Given the description of an element on the screen output the (x, y) to click on. 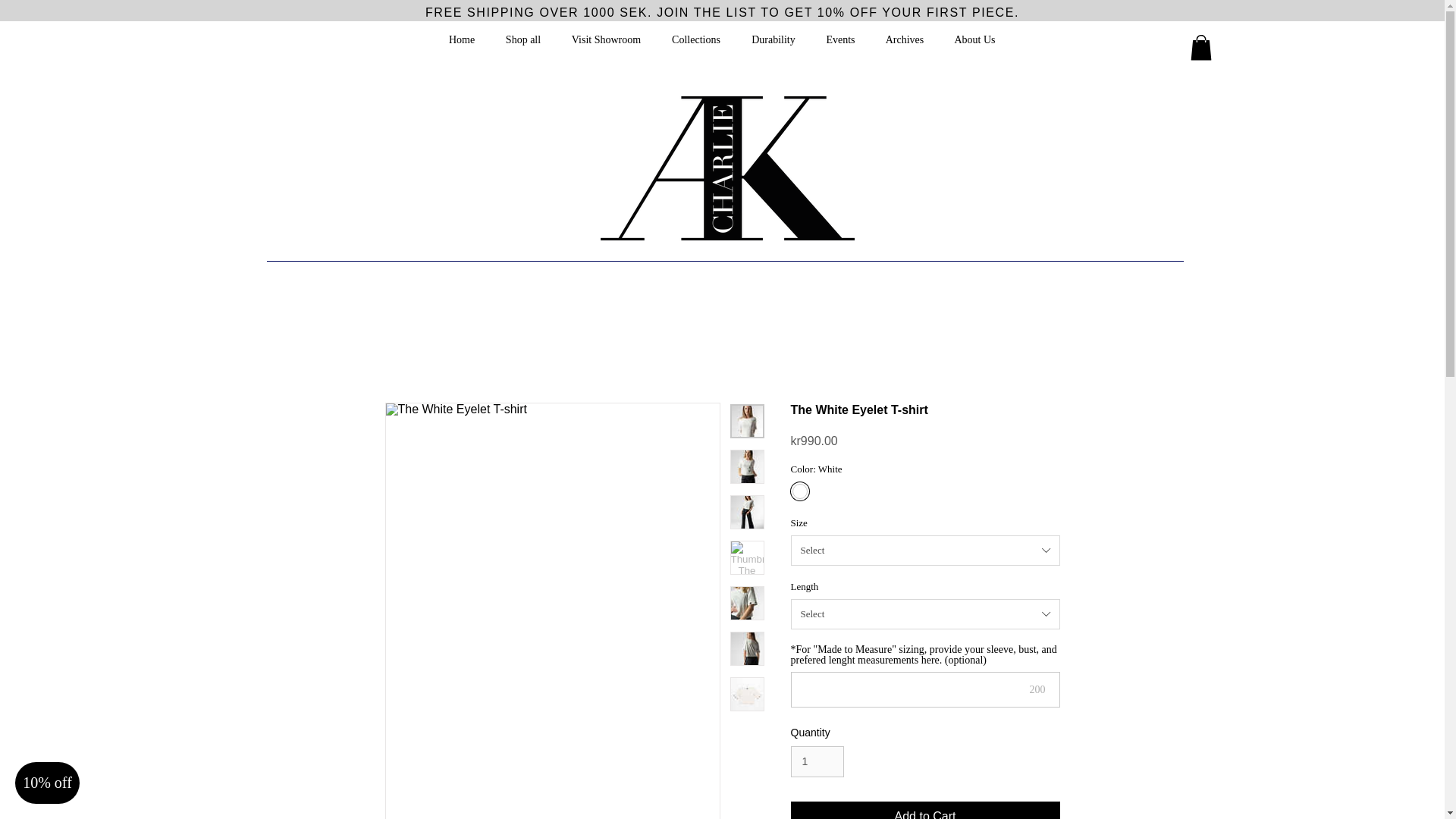
Home (461, 39)
Charlie AK black logo (726, 168)
Durability (772, 39)
Collections (696, 39)
1 (817, 761)
Visit Showroom (606, 39)
Events (840, 39)
Shop all (522, 39)
